Given the description of an element on the screen output the (x, y) to click on. 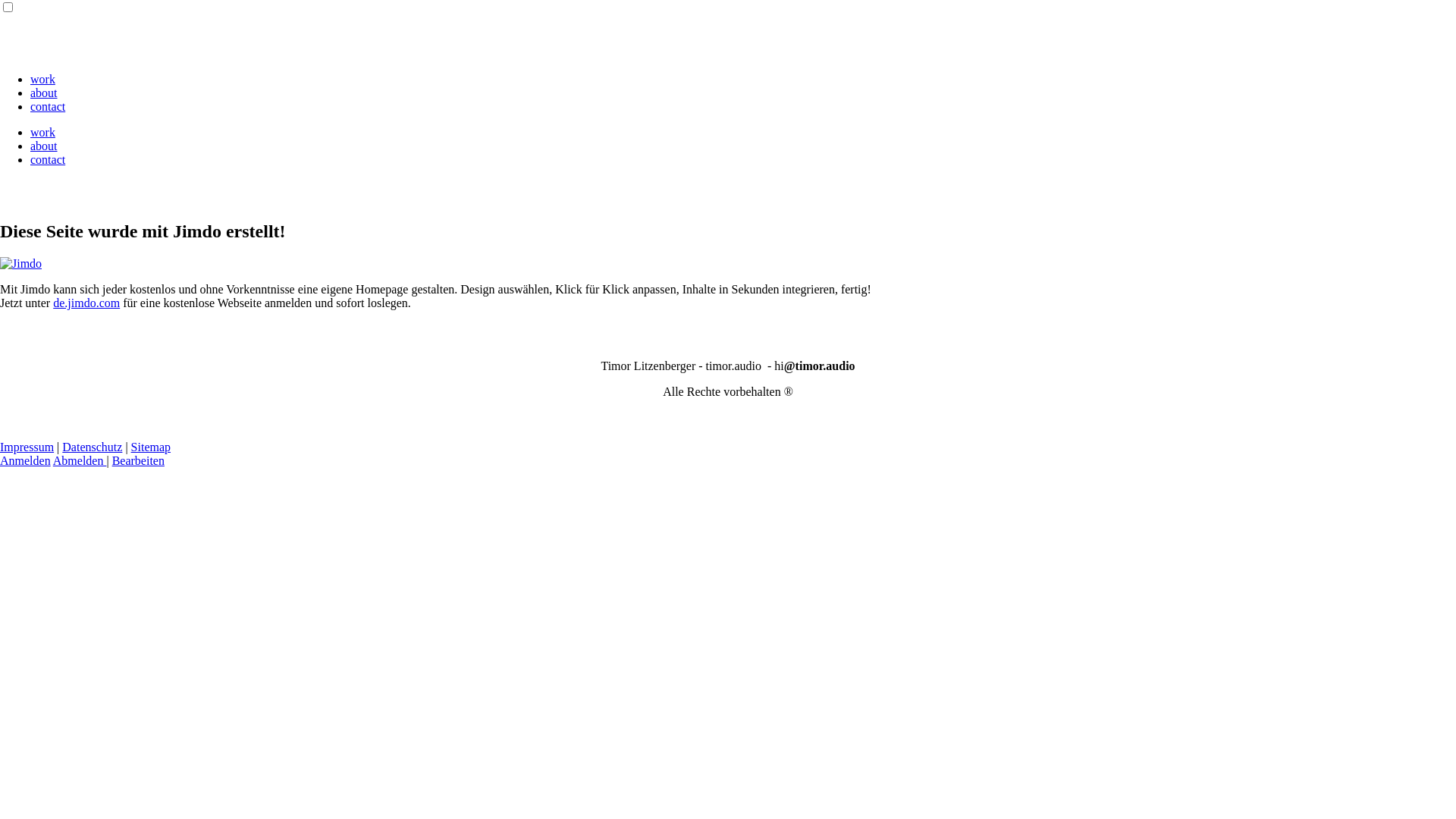
about Element type: text (43, 145)
Jimdo Element type: hover (20, 263)
about Element type: text (43, 92)
Abmelden Element type: text (79, 460)
Sitemap Element type: text (150, 446)
de.jimdo.com Element type: text (86, 302)
contact Element type: text (47, 106)
Impressum Element type: text (26, 446)
contact Element type: text (47, 159)
work Element type: text (42, 131)
Anmelden Element type: text (25, 460)
Bearbeiten Element type: text (138, 460)
Datenschutz Element type: text (92, 446)
work Element type: text (42, 78)
